Given the description of an element on the screen output the (x, y) to click on. 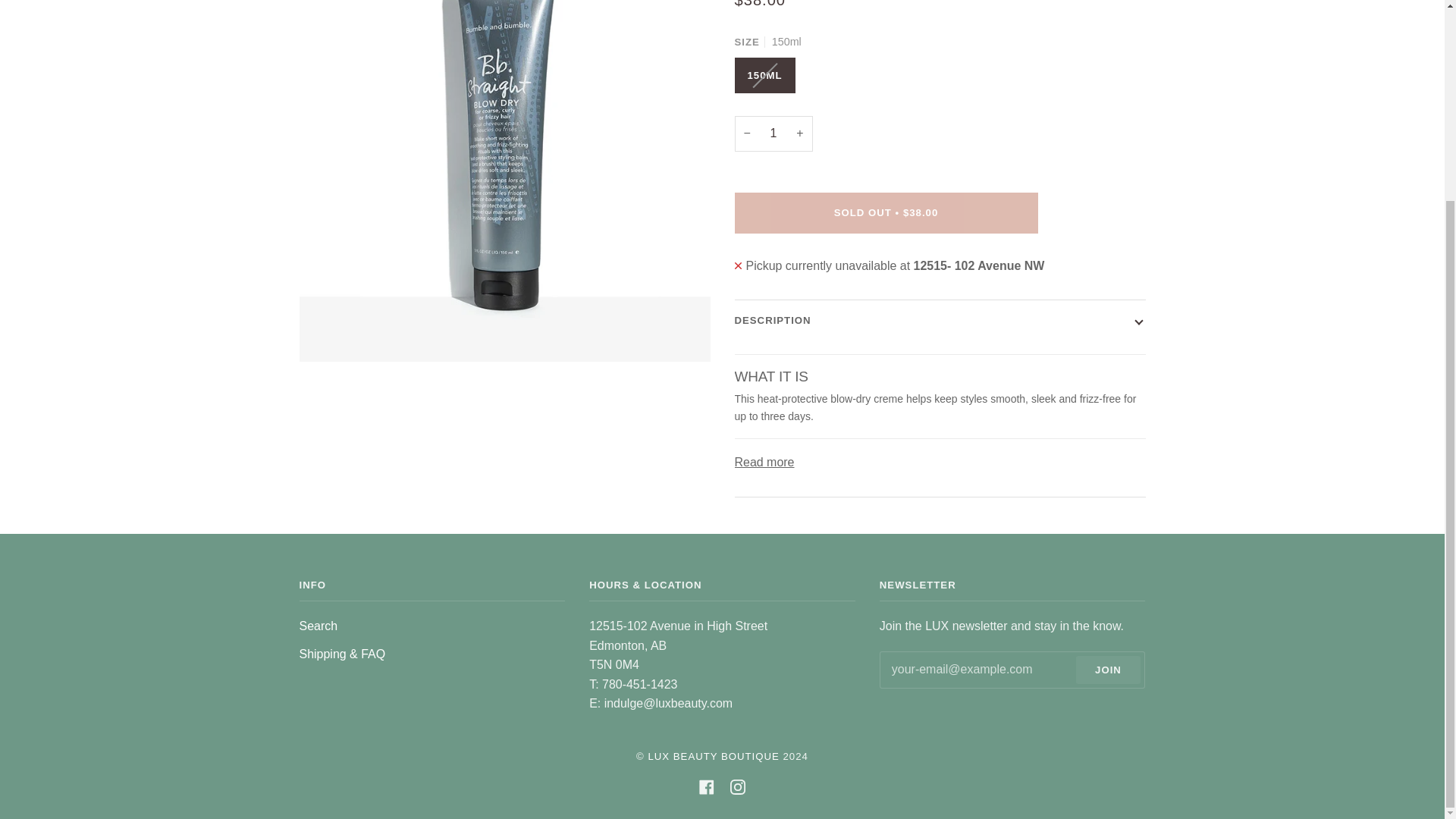
Facebook (706, 786)
Instagram (737, 786)
1 (772, 133)
